Given the description of an element on the screen output the (x, y) to click on. 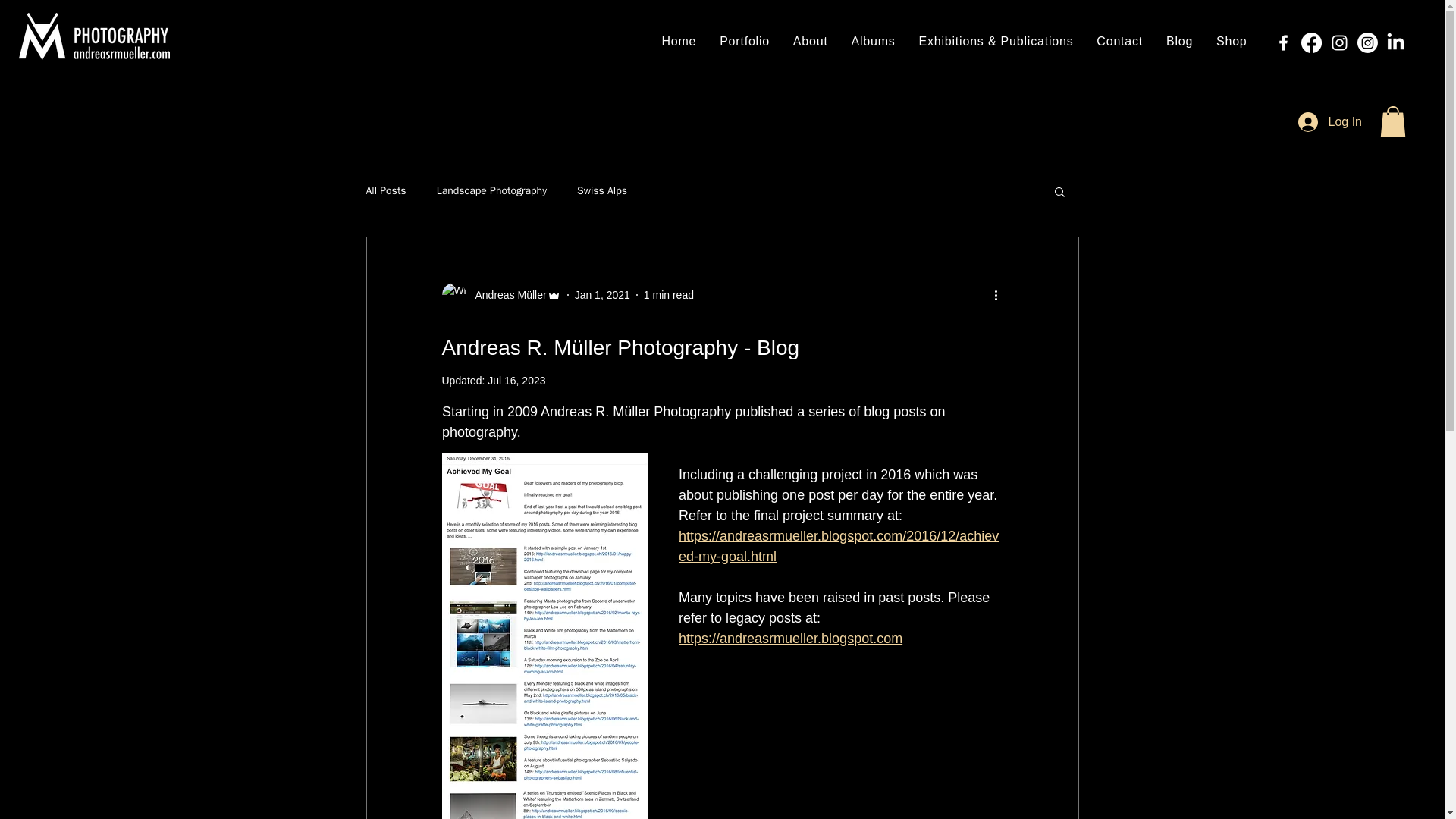
Blog (1179, 41)
Shop (1231, 41)
About (809, 41)
Swiss Alps (601, 191)
All Posts (385, 191)
Log In (1330, 121)
Jul 16, 2023 (515, 380)
Home (678, 41)
1 min read (668, 294)
Jan 1, 2021 (602, 294)
